Given the description of an element on the screen output the (x, y) to click on. 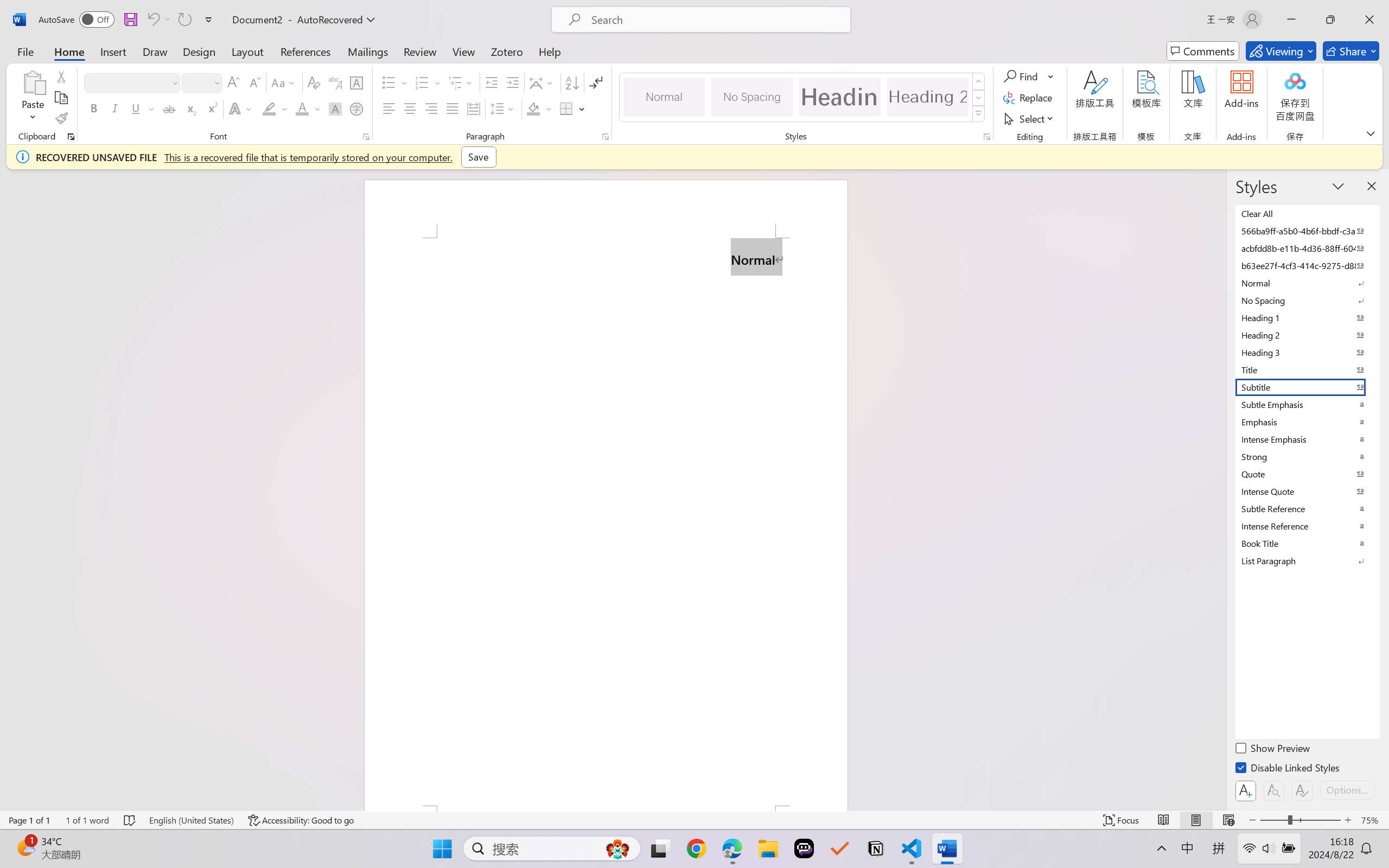
Font Color RGB(255, 0, 0) (302, 108)
Clear Formatting (313, 82)
Grow Font (233, 82)
Copy (60, 97)
Sort... (571, 82)
